Given the description of an element on the screen output the (x, y) to click on. 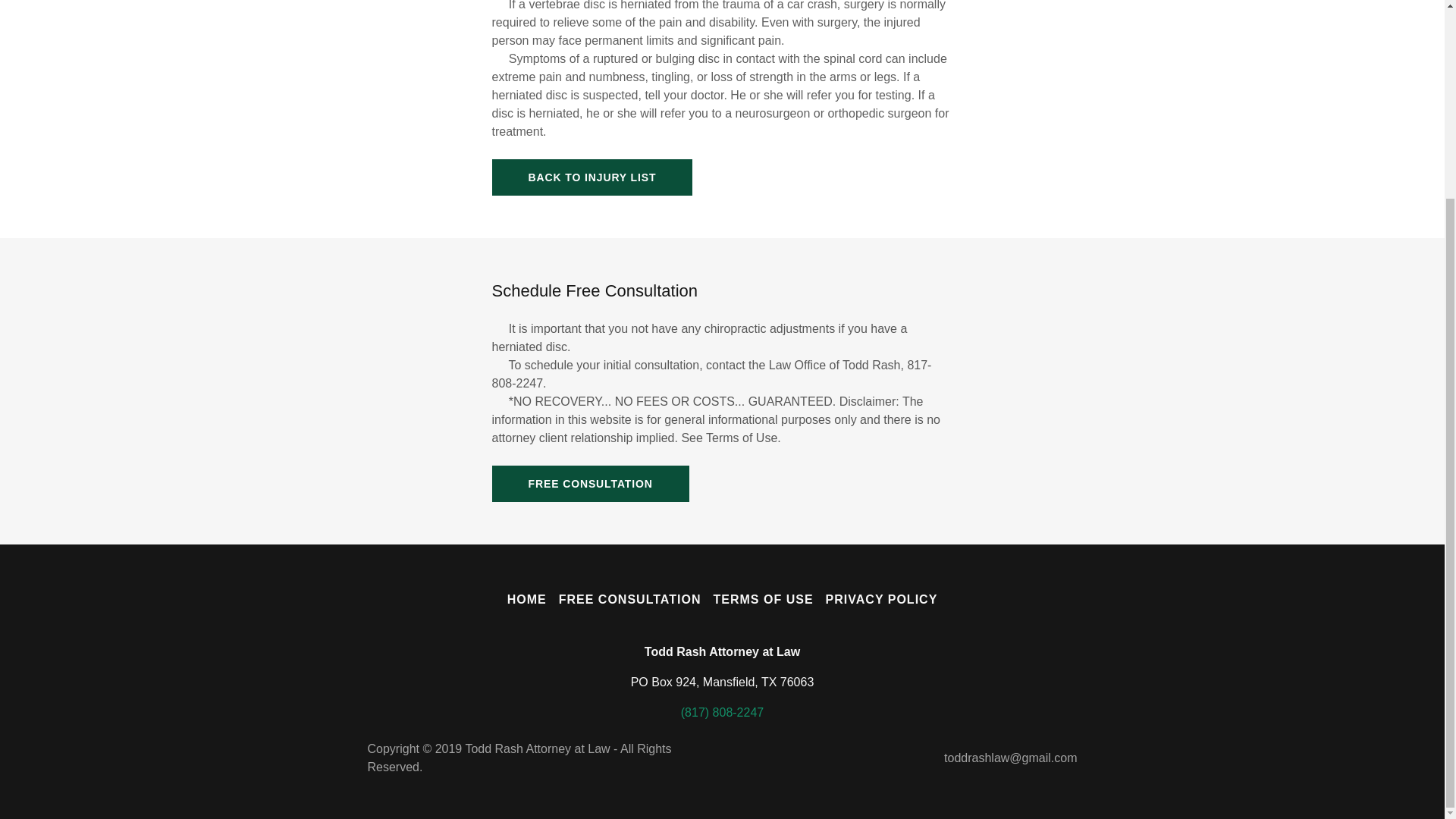
HOME (526, 599)
FREE CONSULTATION (590, 484)
PRIVACY POLICY (881, 599)
FREE CONSULTATION (630, 599)
BACK TO INJURY LIST (592, 176)
TERMS OF USE (762, 599)
